Given the description of an element on the screen output the (x, y) to click on. 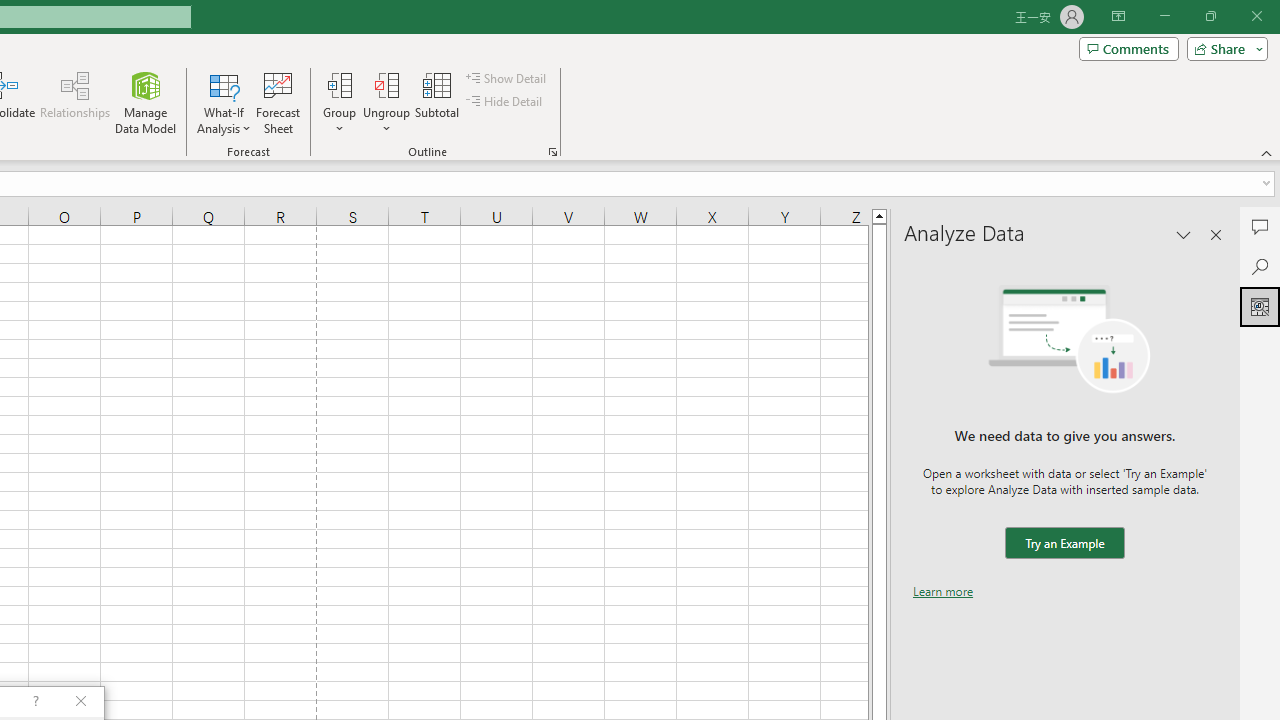
We need data to give you answers. Try an Example (1064, 543)
Collapse the Ribbon (1267, 152)
Hide Detail (505, 101)
Minimize (1164, 16)
More Options (386, 121)
Line up (879, 215)
Relationships (75, 102)
Subtotal (437, 102)
Manage Data Model (145, 102)
Group and Outline Settings (552, 151)
Ungroup... (386, 84)
Group... (339, 84)
Learn more (943, 591)
Ribbon Display Options (1118, 16)
